Given the description of an element on the screen output the (x, y) to click on. 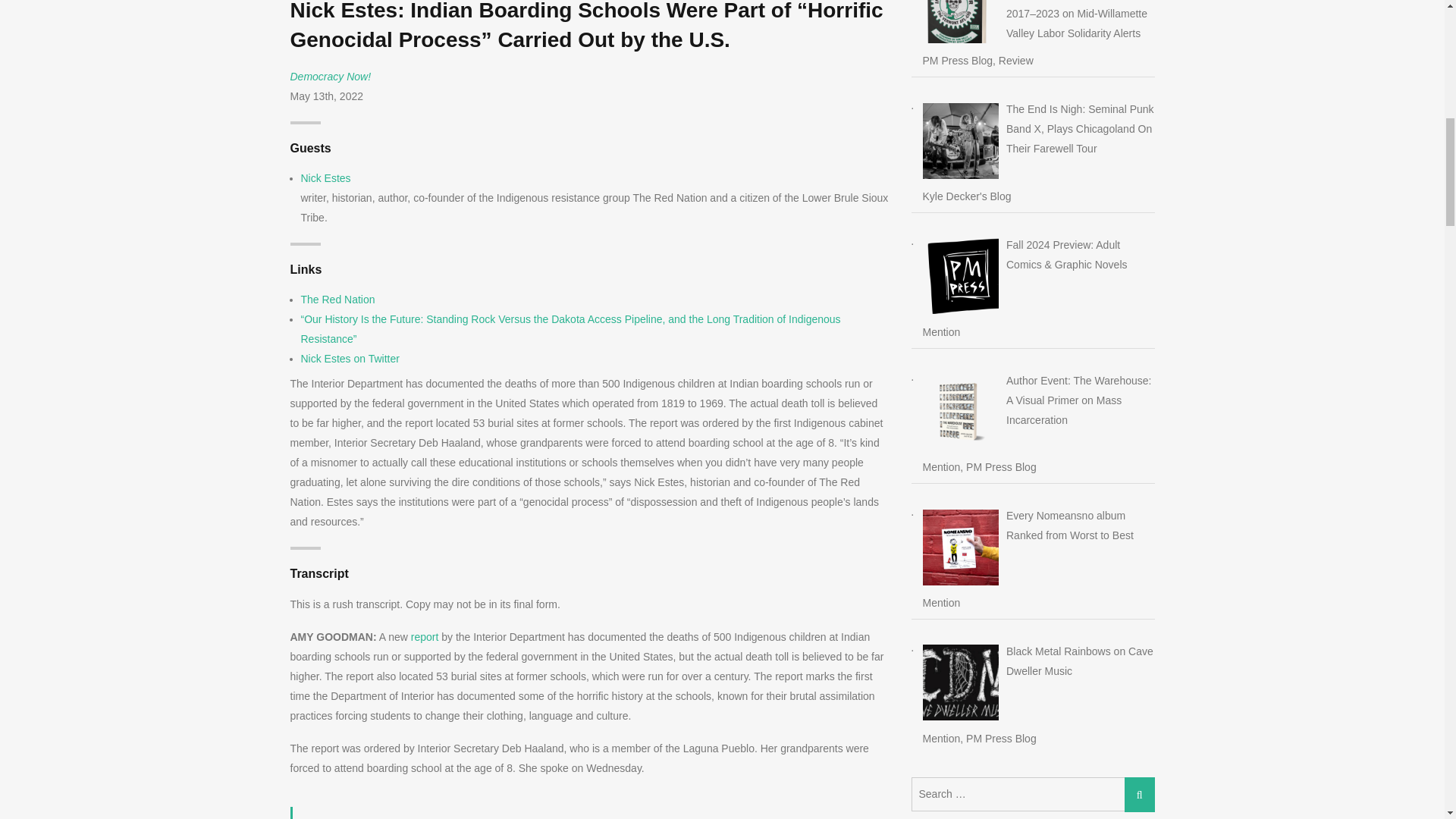
Nick Estes (324, 177)
The Red Nation (336, 299)
Nick Estes on Twitter (348, 358)
Democracy Now! (330, 76)
report (424, 636)
